Given the description of an element on the screen output the (x, y) to click on. 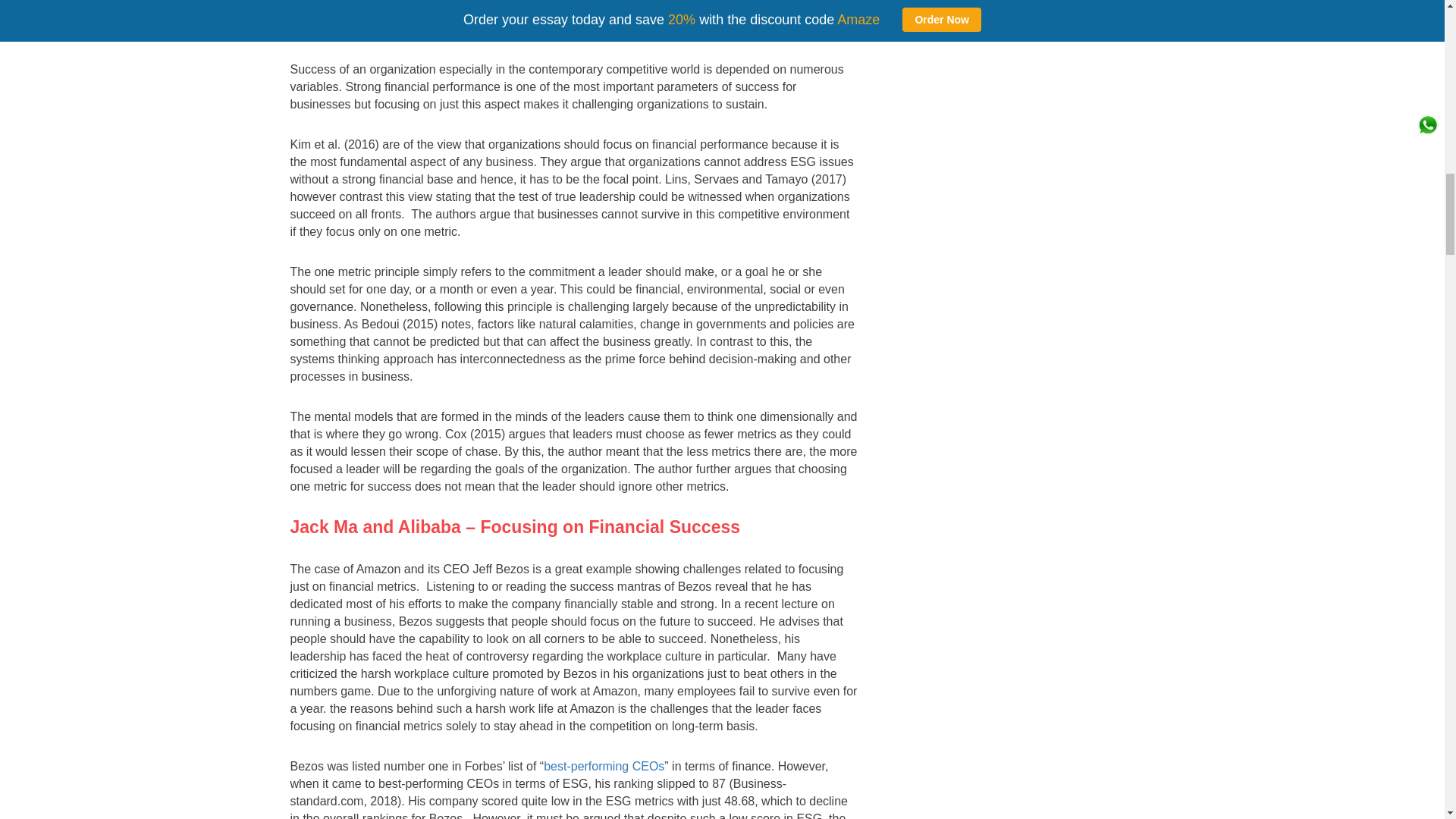
best-performing CEOs (603, 766)
